Given the description of an element on the screen output the (x, y) to click on. 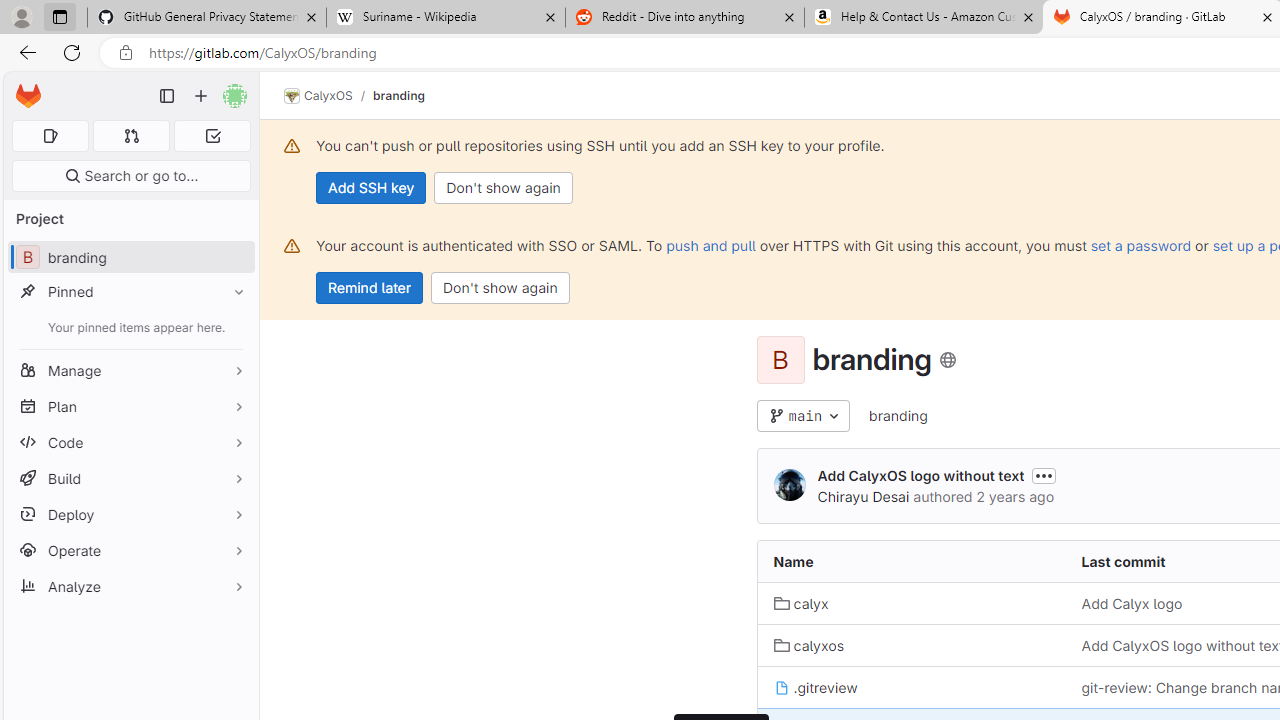
Add SSH key (371, 187)
Skip to main content (23, 87)
Analyze (130, 586)
Code (130, 442)
Operate (130, 550)
calyxos (911, 645)
Add CalyxOS logo without text (920, 475)
Chirayu Desai's avatar (789, 484)
Code (130, 442)
Chirayu Desai (863, 496)
Analyze (130, 586)
Suriname - Wikipedia (445, 17)
Assigned issues 0 (50, 136)
Merge requests 0 (131, 136)
